Given the description of an element on the screen output the (x, y) to click on. 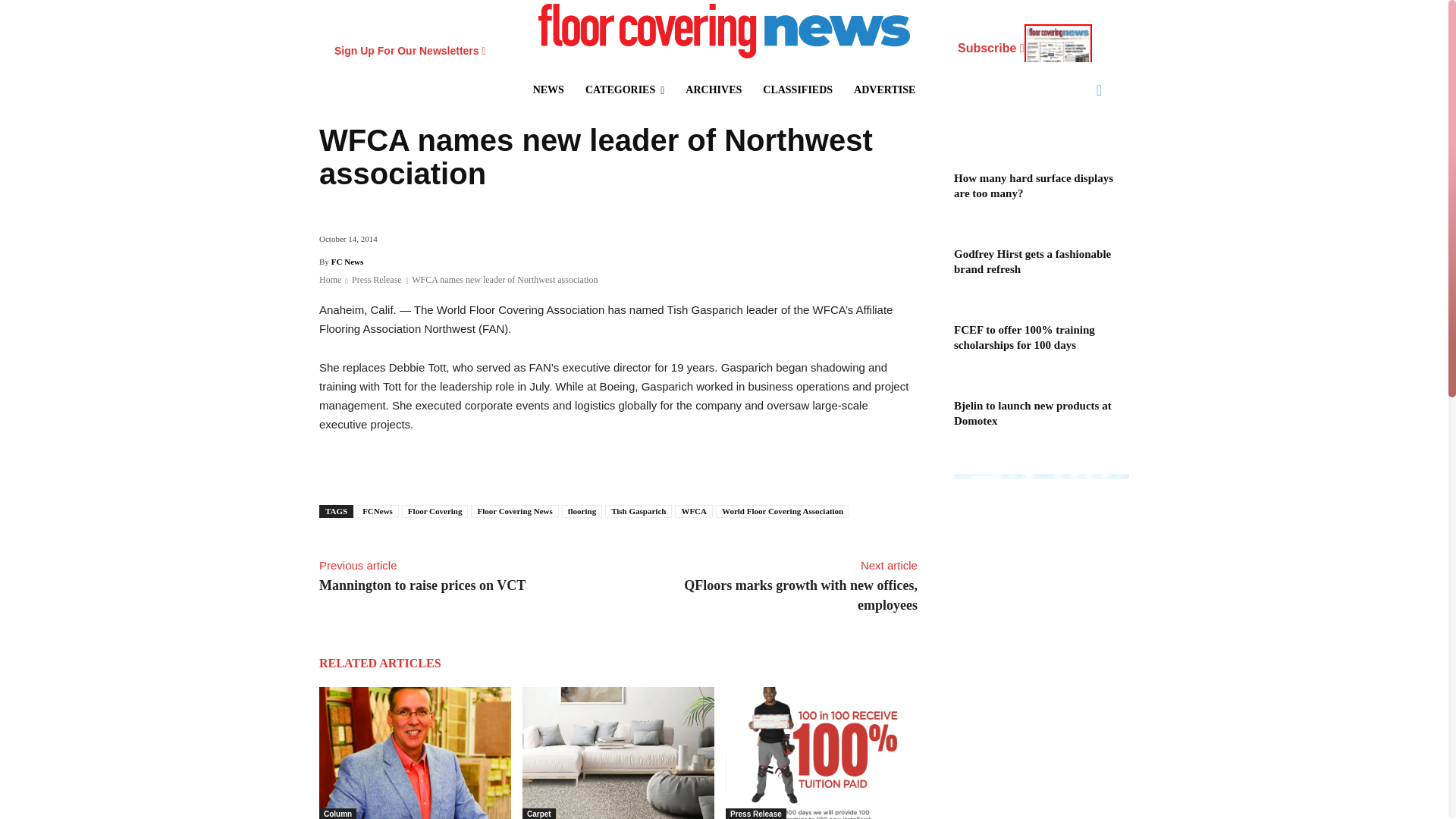
How many hard surface displays are too many? (414, 753)
View all posts in Press Release (376, 279)
NEWS (548, 90)
Sign Up For Our Newsletters (410, 50)
Godfrey Hirst gets a fashionable brand refresh (618, 753)
CATEGORIES (625, 90)
Subscribe (1025, 50)
